Given the description of an element on the screen output the (x, y) to click on. 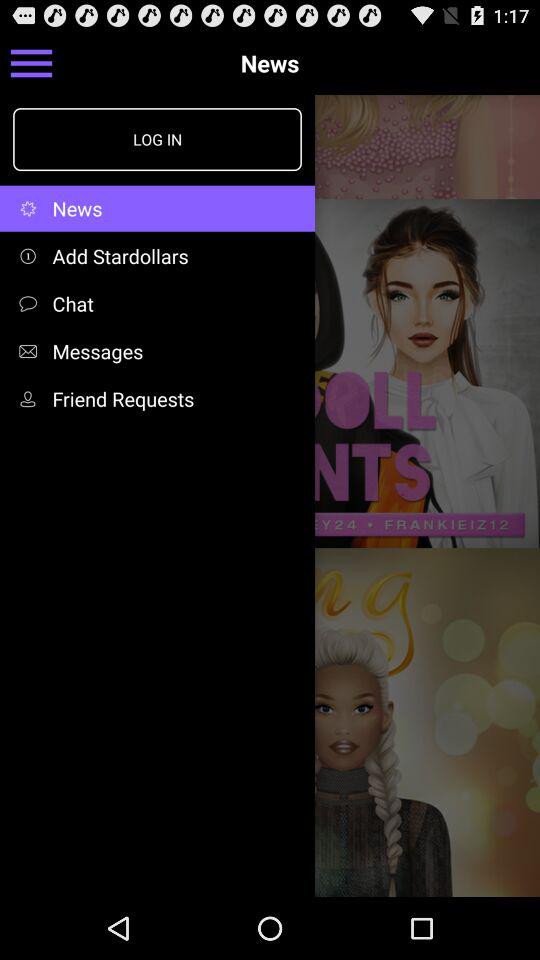
open menu (31, 62)
